Given the description of an element on the screen output the (x, y) to click on. 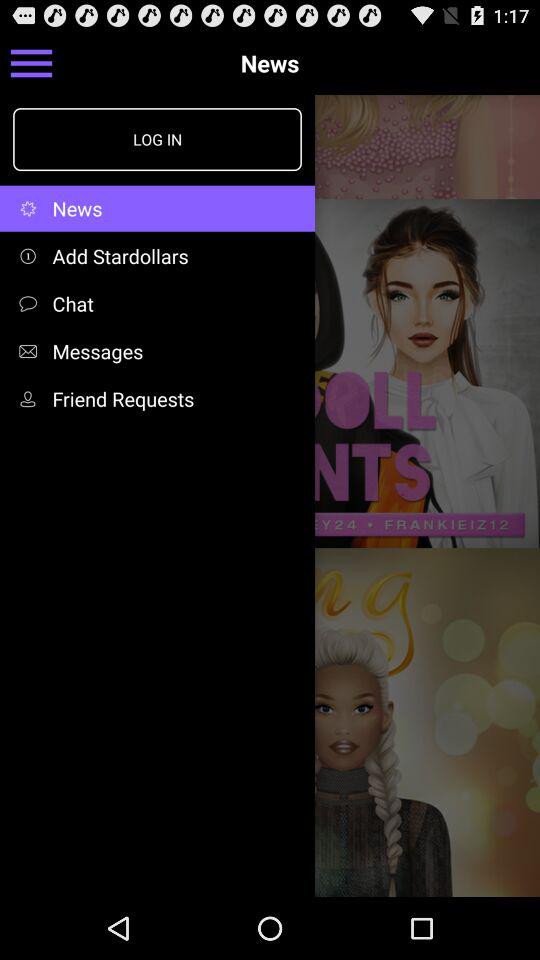
open menu (31, 62)
